Given the description of an element on the screen output the (x, y) to click on. 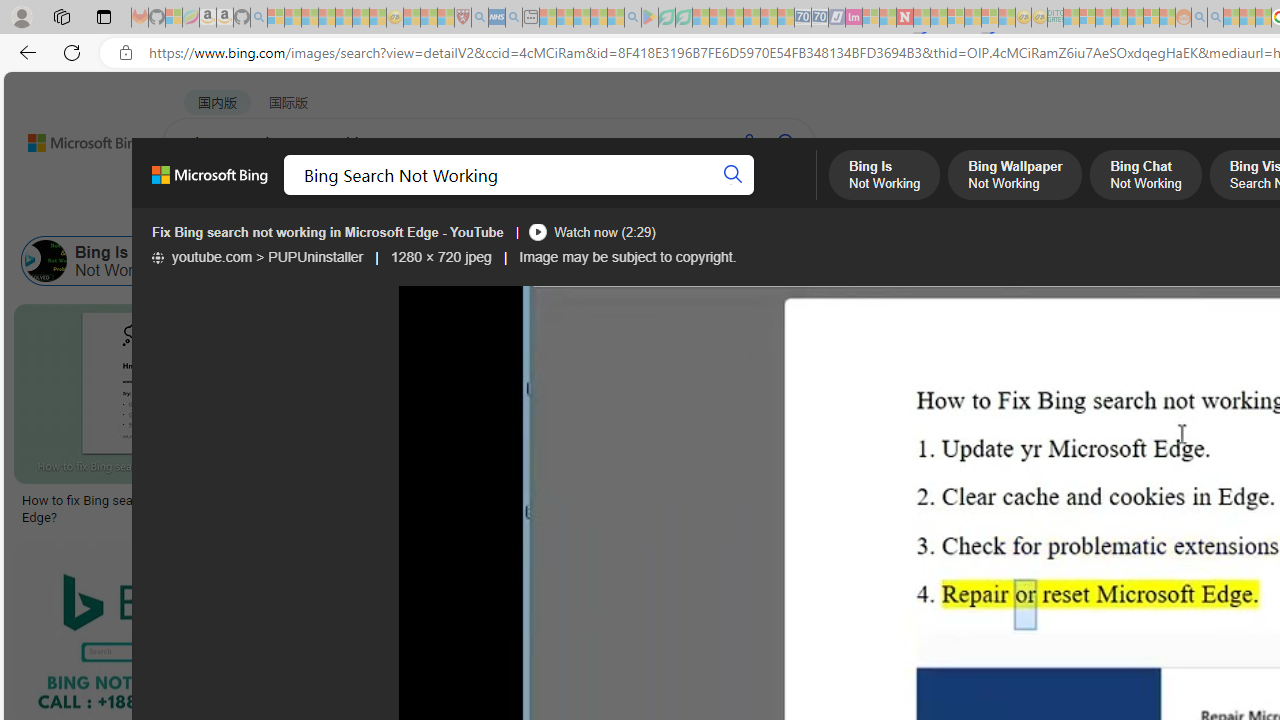
Class: b_pri_nav_svg (423, 196)
WEB (201, 195)
DICT (717, 195)
Fix Bing Search Not Working in Microsoft Edge (6 Easy Ways) (821, 508)
Bing Chat Not Working (471, 260)
DICT (717, 195)
